Given the description of an element on the screen output the (x, y) to click on. 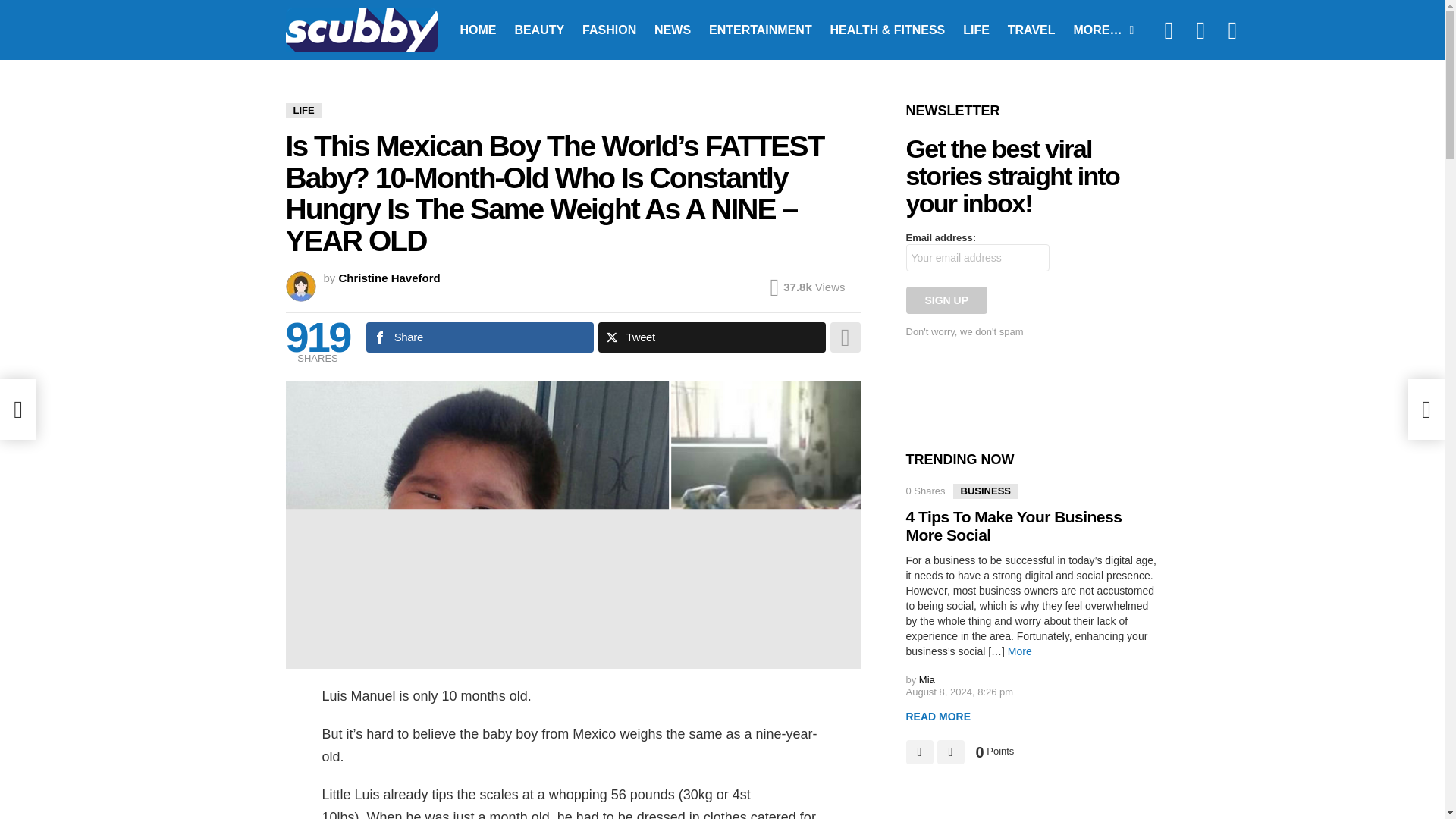
Christine Haveford (390, 277)
NEWS (672, 29)
ENTERTAINMENT (760, 29)
Downvote (950, 752)
LIFE (976, 29)
Tweet (711, 337)
TRAVEL (1031, 29)
Posts by Christine Haveford (390, 277)
HOME (477, 29)
Sign up (946, 299)
